Given the description of an element on the screen output the (x, y) to click on. 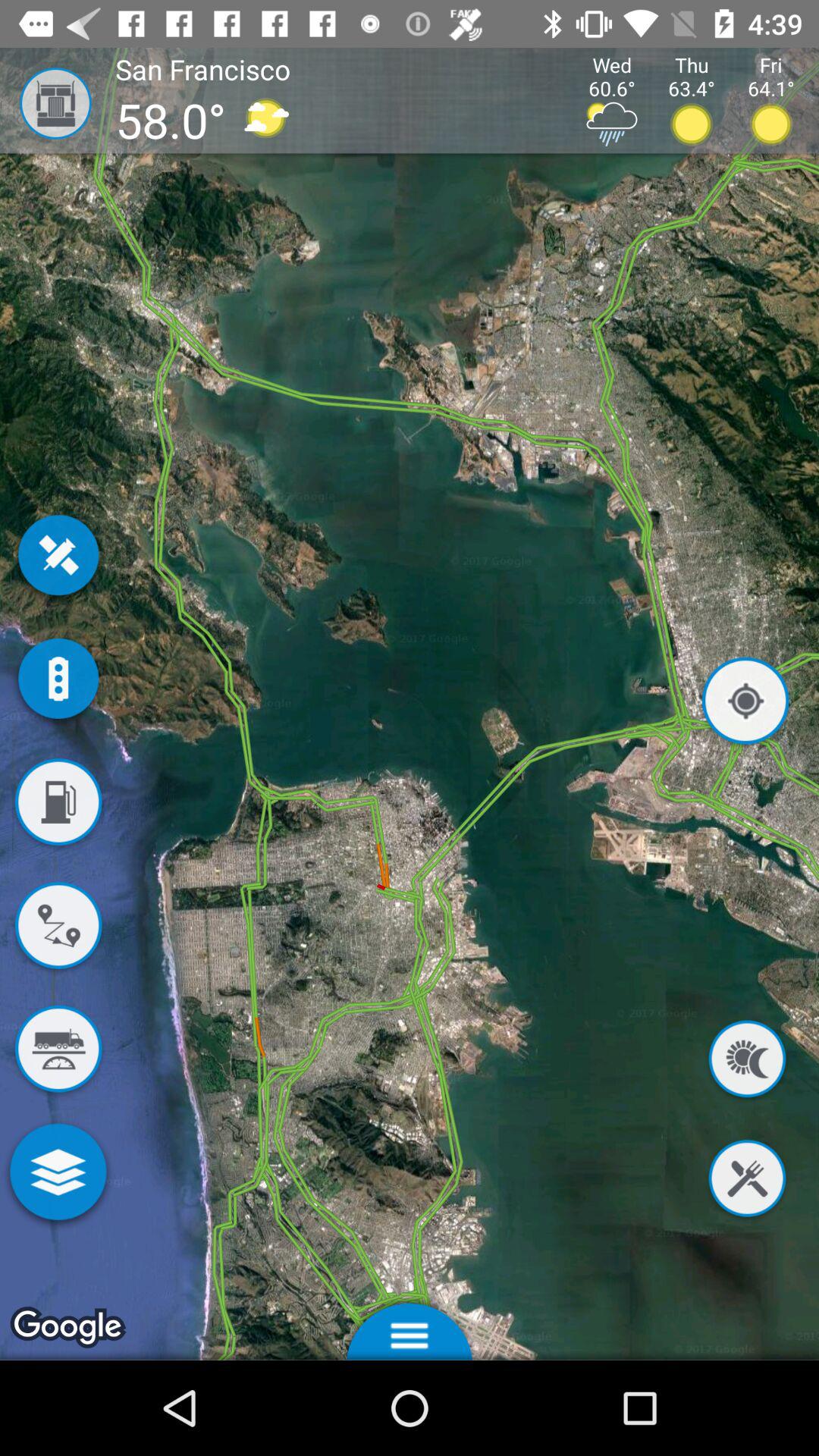
menu toggle (409, 1326)
